Given the description of an element on the screen output the (x, y) to click on. 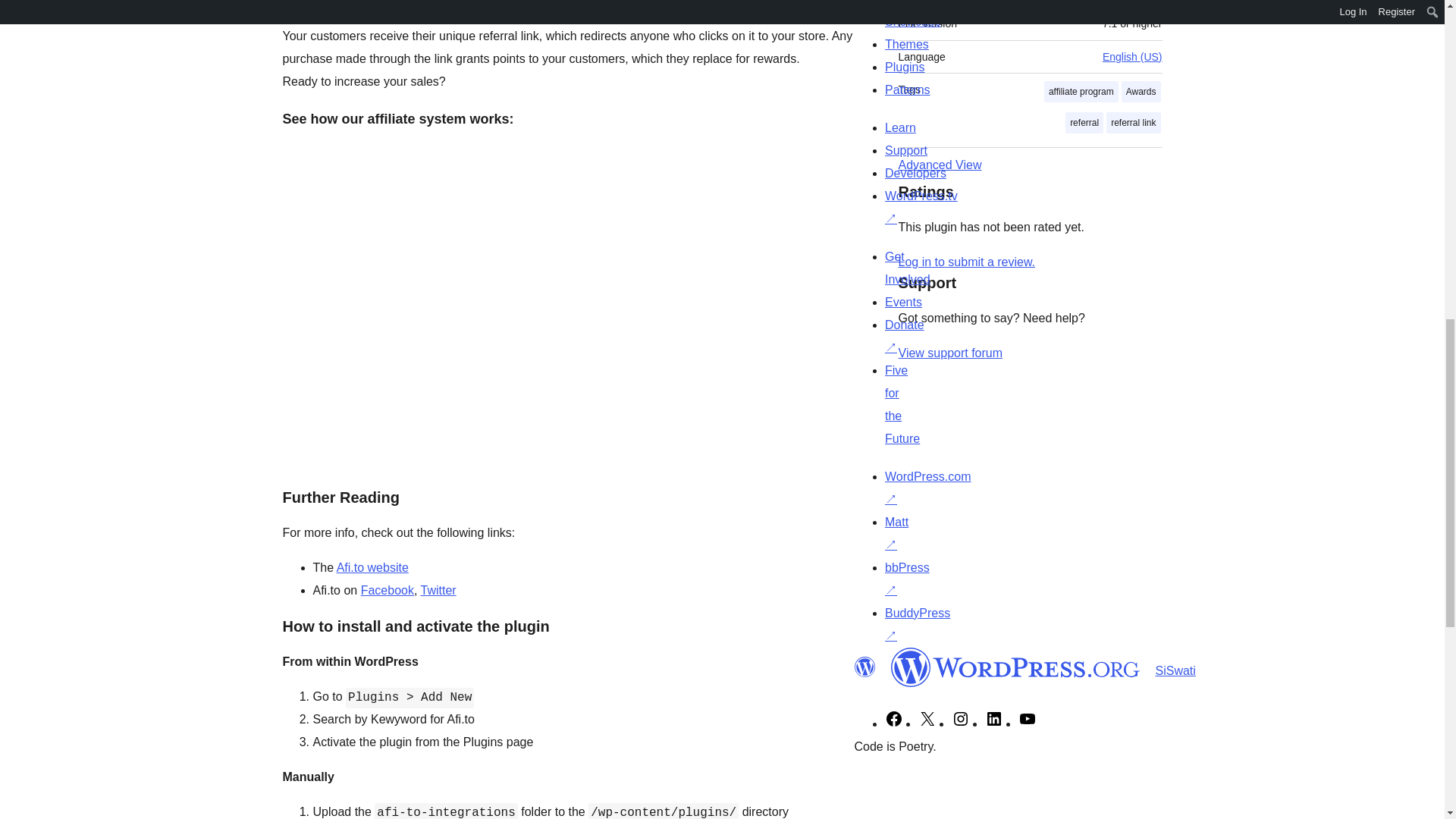
Afi.to website (372, 567)
Facebook (387, 590)
Log in to WordPress.org (966, 261)
Twitter (438, 590)
WordPress.org (1014, 667)
WordPress.org (864, 667)
